Given the description of an element on the screen output the (x, y) to click on. 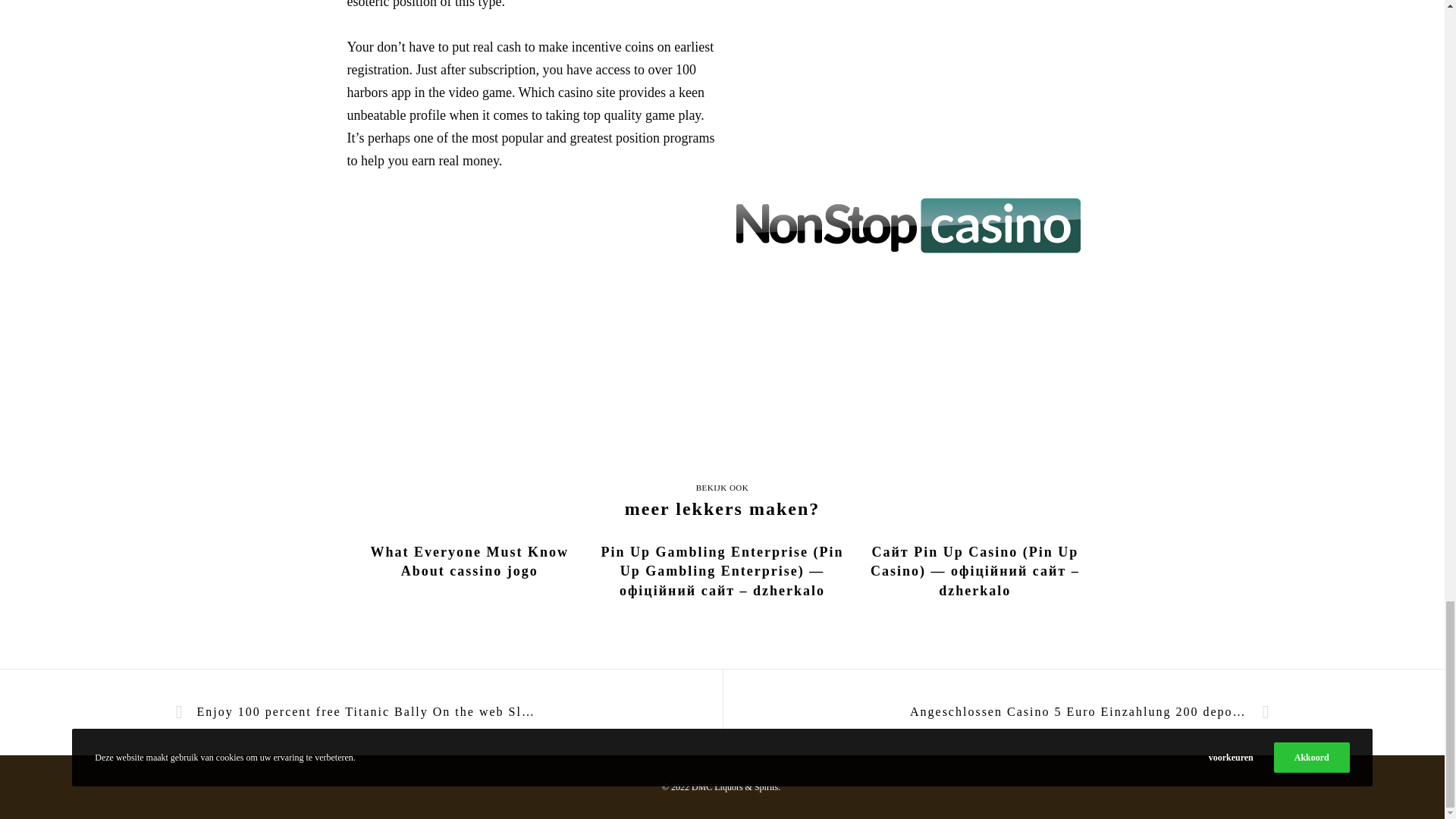
What Everyone Must Know About cassino jogo (469, 561)
